Given the description of an element on the screen output the (x, y) to click on. 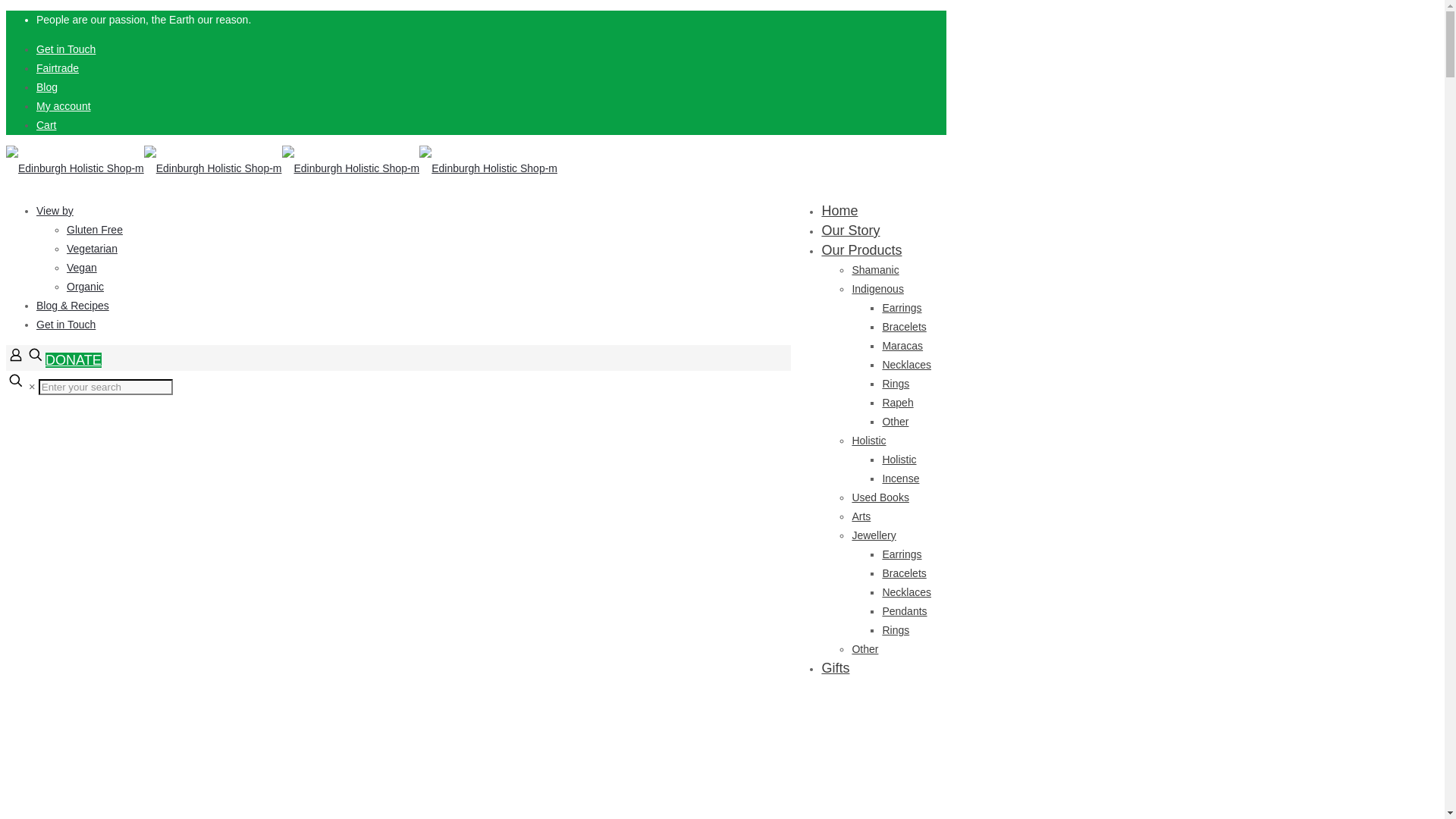
Our Story (850, 230)
Other (895, 421)
Used Books (879, 497)
Gifts (834, 668)
Bracelets (904, 326)
Rings (895, 383)
Shamanic (874, 269)
Jewellery (873, 535)
Holistic (898, 459)
Edinburgh Holistic Shop (281, 167)
Indigenous (877, 288)
Organic (84, 286)
Holistic (868, 440)
My account (63, 105)
Incense (900, 478)
